Given the description of an element on the screen output the (x, y) to click on. 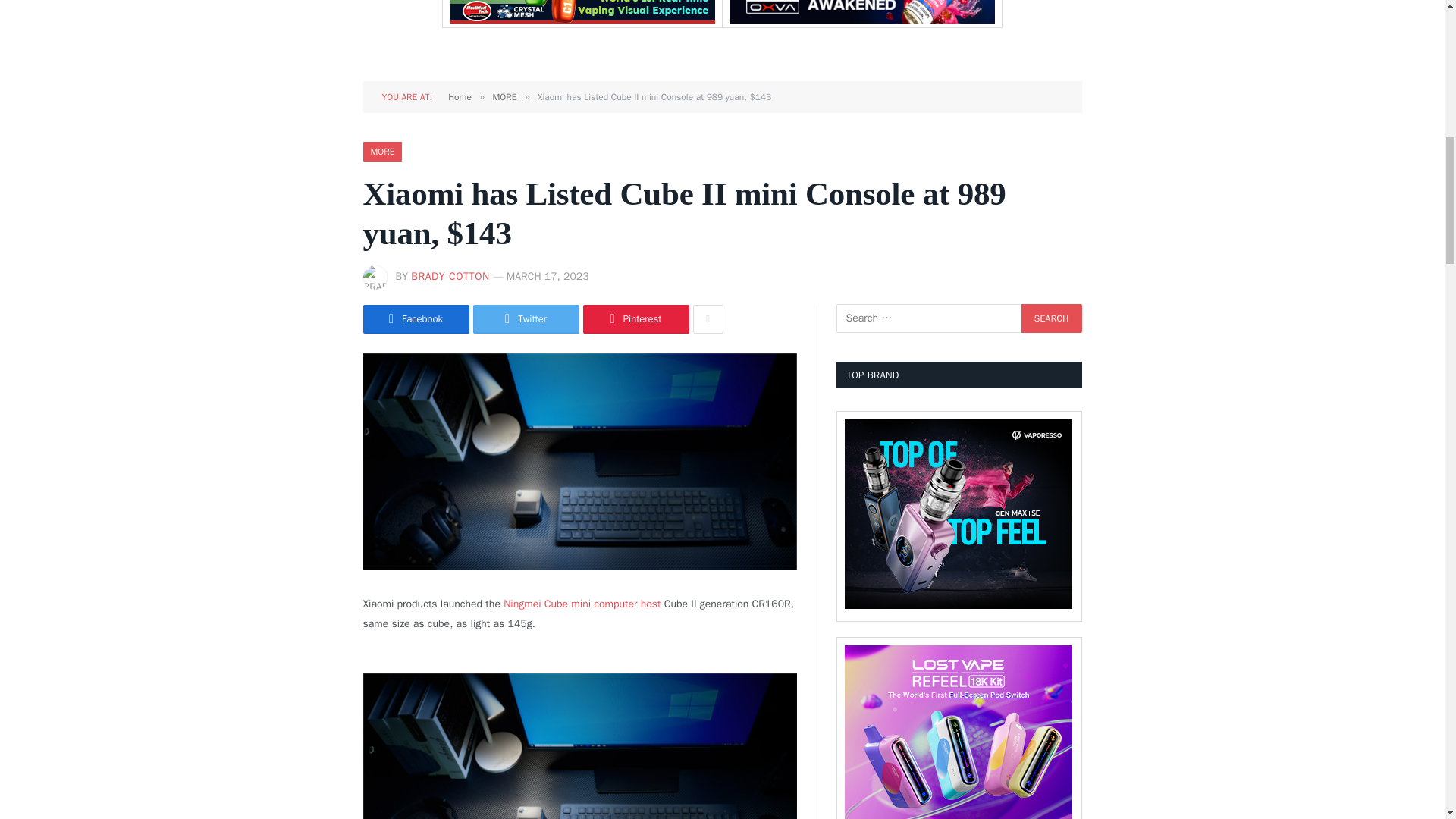
Show More Social Sharing (708, 318)
Share on Facebook (415, 318)
Share on Pinterest (635, 318)
Share on Twitter (526, 318)
Search (1051, 317)
Search (1051, 317)
Posts by Brady Cotton (449, 276)
